Given the description of an element on the screen output the (x, y) to click on. 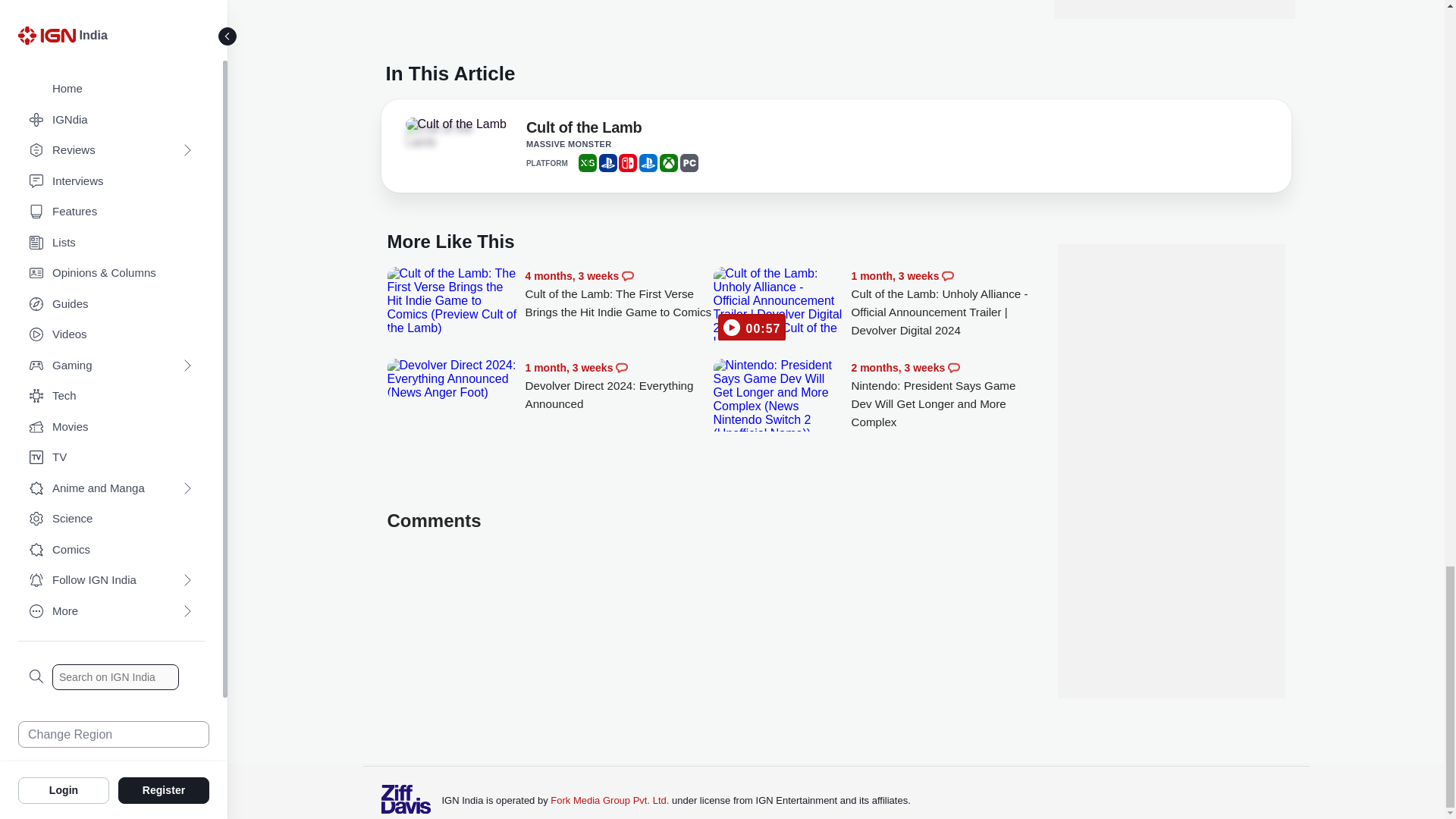
Cult of the Lamb (448, 135)
Cult of the Lamb (583, 129)
Cult of the Lamb (454, 124)
Devolver Direct 2024: Everything Announced (618, 386)
Devolver Direct 2024: Everything Announced (451, 378)
